Given the description of an element on the screen output the (x, y) to click on. 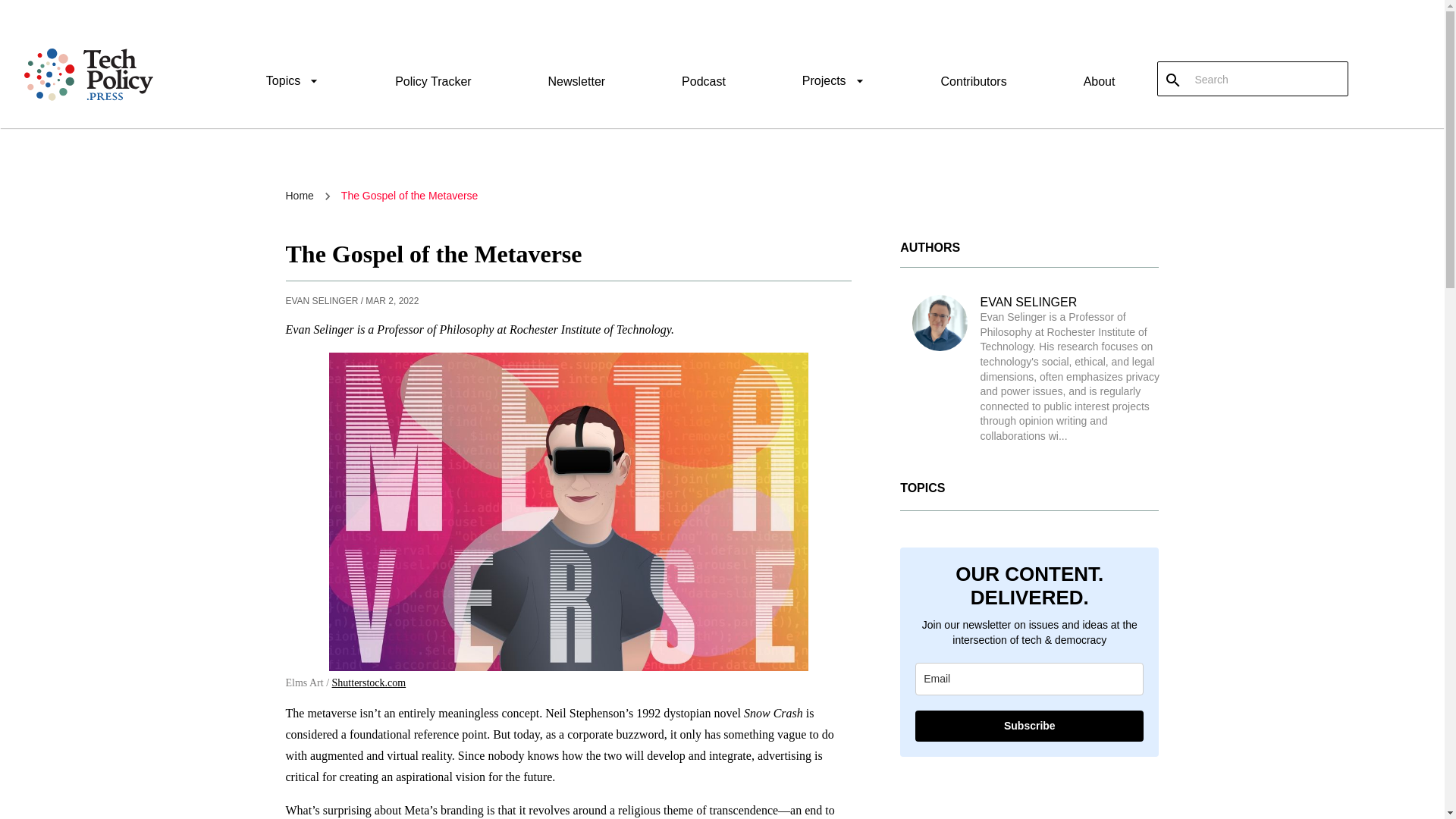
Subscribe (1028, 726)
Shutterstock.com (368, 682)
About (1099, 81)
Newsletter (576, 81)
Projects (833, 83)
Podcast (703, 81)
Policy Tracker (432, 81)
Contributors (973, 81)
Topics (292, 83)
EVAN SELINGER (1028, 301)
